Given the description of an element on the screen output the (x, y) to click on. 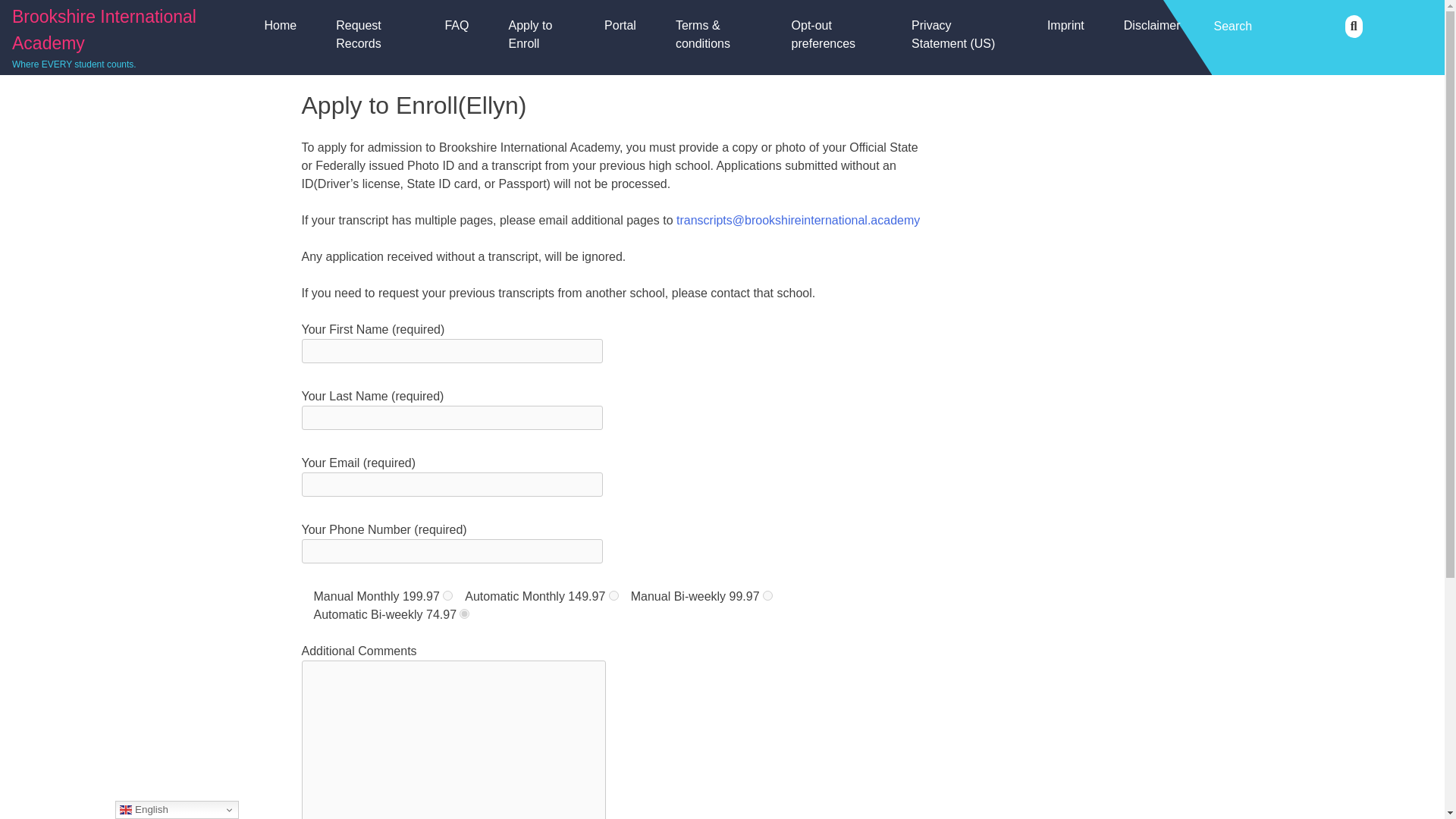
Request Records (370, 34)
Automatic Bi-weekly 74.97 (464, 614)
Brookshire International Academy (103, 29)
international.academy (861, 219)
Apply to Enroll (536, 34)
Imprint (1065, 25)
FAQ (456, 25)
Portal (620, 25)
Automatic Monthly 149.97 (613, 595)
Manual Monthly 199.97 (447, 595)
Home (279, 25)
Opt-out preferences (831, 34)
Manual Bi-weekly 99.97 (767, 595)
Disclaimer (1151, 25)
